Given the description of an element on the screen output the (x, y) to click on. 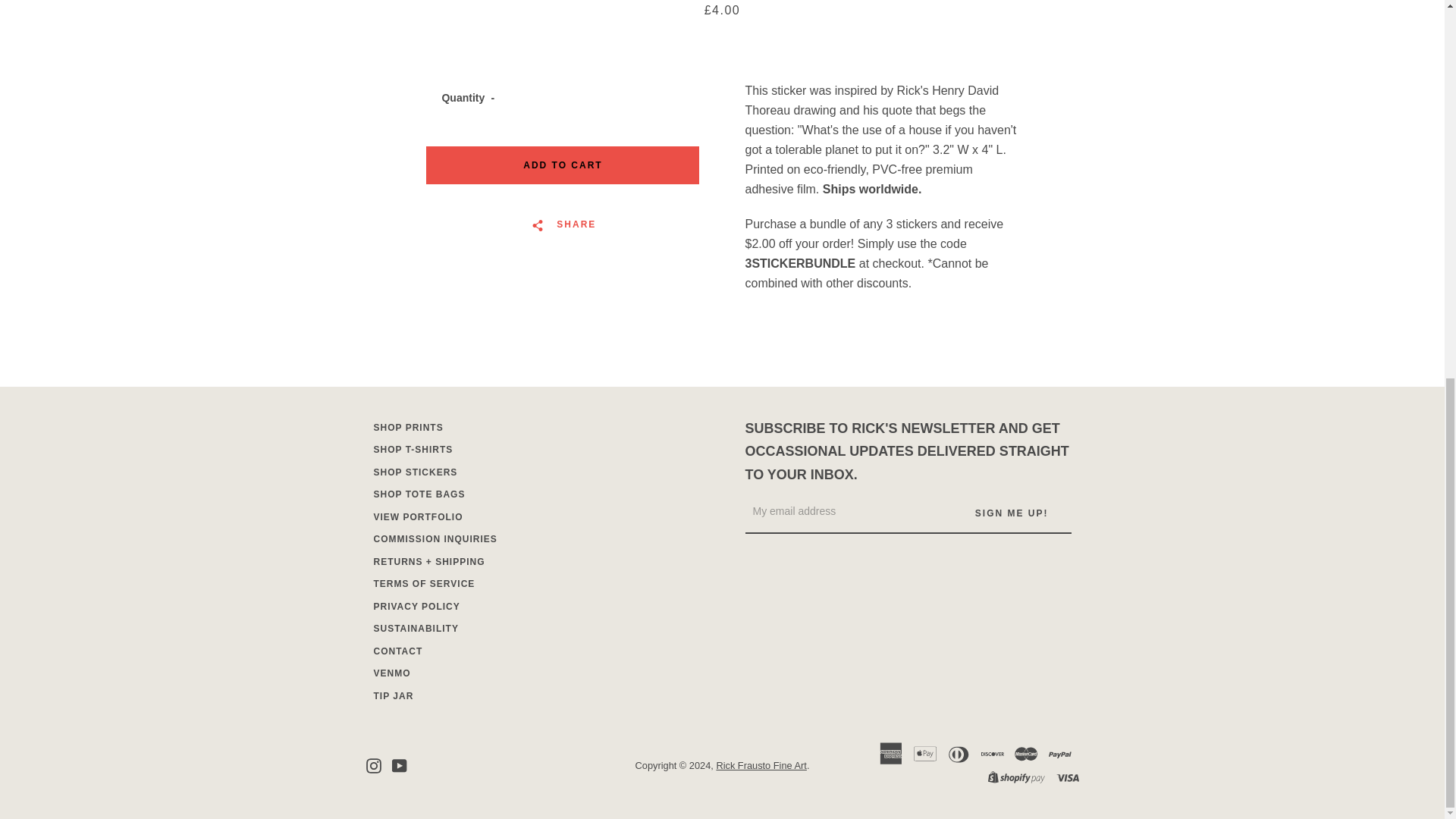
VIEW PORTFOLIO (417, 516)
Sign Me Up! (1011, 513)
ADD TO CART (562, 165)
Rick Frausto Fine Art on YouTube (399, 764)
SHOP PRINTS (407, 427)
SHOP TOTE BAGS (418, 493)
SHOP STICKERS (414, 471)
COMMISSION INQUIRIES (434, 538)
SHOP T-SHIRTS (412, 449)
SHARE (563, 224)
Rick Frausto Fine Art on Instagram (372, 764)
